Given the description of an element on the screen output the (x, y) to click on. 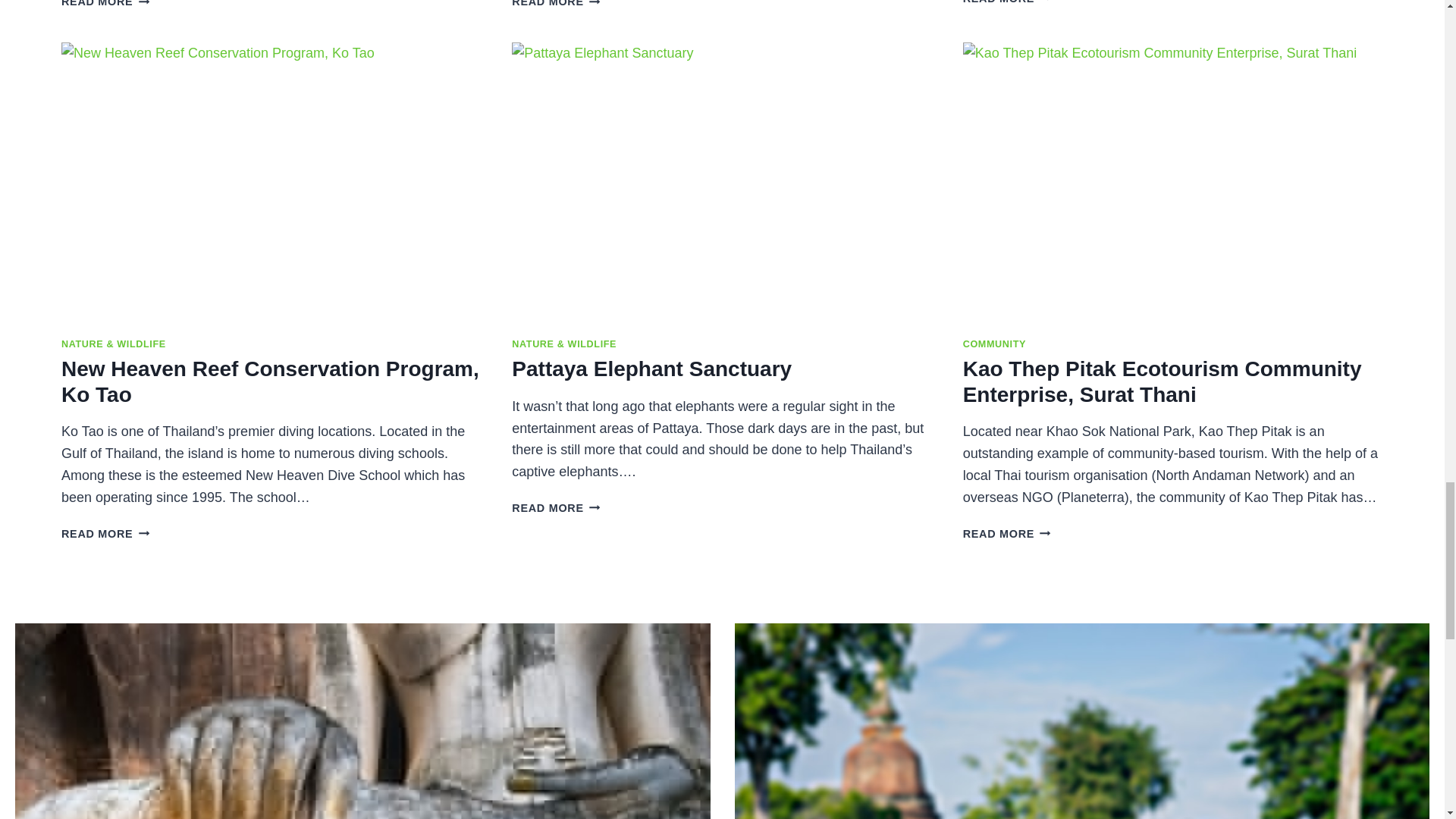
New Heaven Reef Conservation Program, Ko Tao (105, 533)
